Given the description of an element on the screen output the (x, y) to click on. 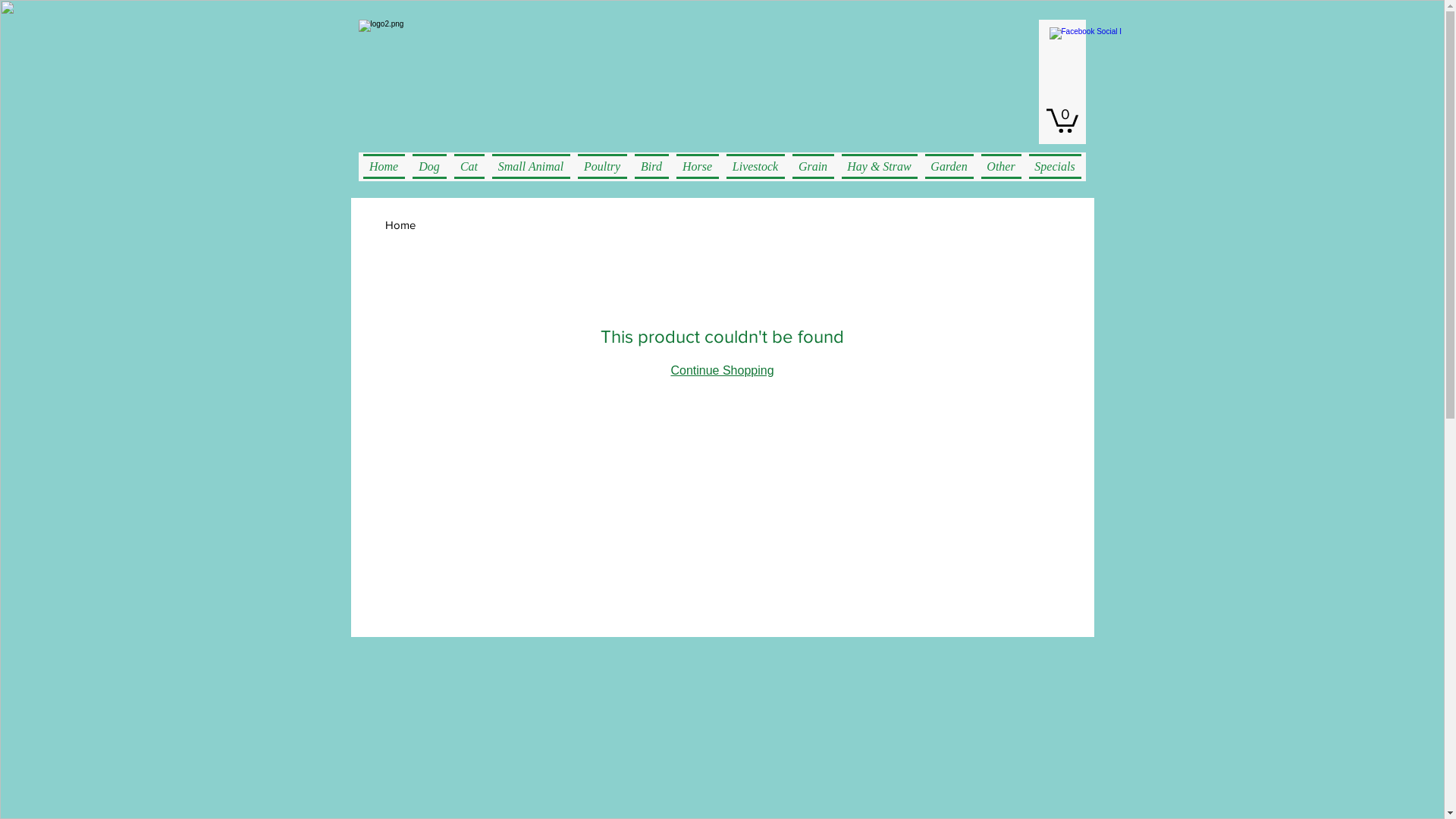
Other Element type: text (1000, 165)
Home Element type: text (384, 165)
Home Element type: text (400, 224)
Specials Element type: text (1053, 165)
0 Element type: text (1062, 119)
Garden Element type: text (948, 165)
Continue Shopping Element type: text (721, 370)
Grain Element type: text (812, 165)
Hay & Straw Element type: text (878, 165)
